Given the description of an element on the screen output the (x, y) to click on. 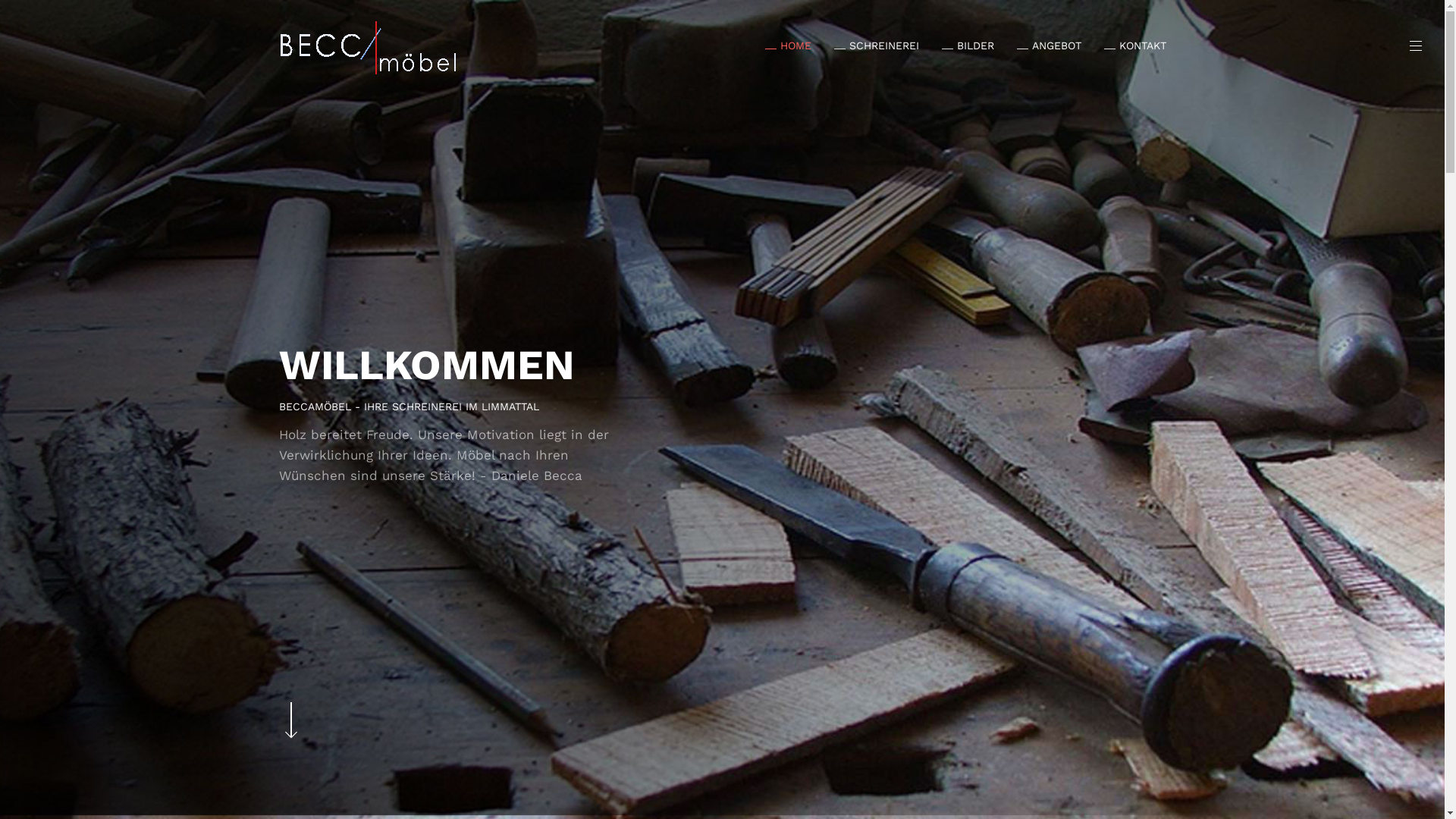
BILDER Element type: text (956, 45)
KONTAKT Element type: text (1123, 45)
BECCArch Element type: hover (368, 46)
ANGEBOT Element type: text (1036, 45)
SCHREINEREI Element type: text (865, 45)
HOME Element type: text (775, 45)
